Given the description of an element on the screen output the (x, y) to click on. 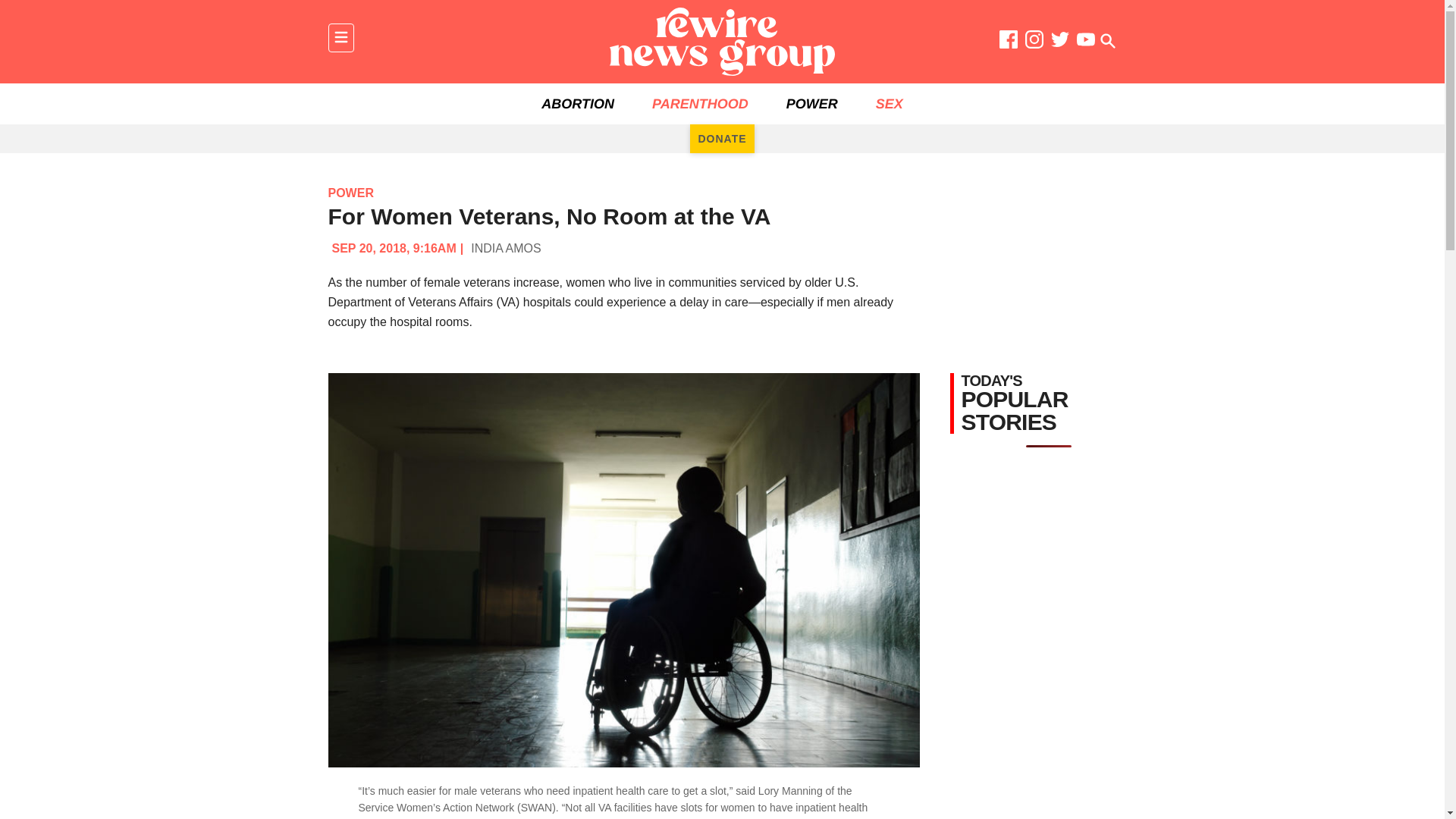
PARENTHOOD (700, 103)
INSTAGRAM (1034, 41)
INDIA AMOS (505, 247)
POWER (812, 103)
DONATE (722, 138)
POWER (349, 192)
TWITTER (1059, 41)
ABORTION (577, 103)
FACEBOOK (1007, 41)
SEX (889, 103)
